Given the description of an element on the screen output the (x, y) to click on. 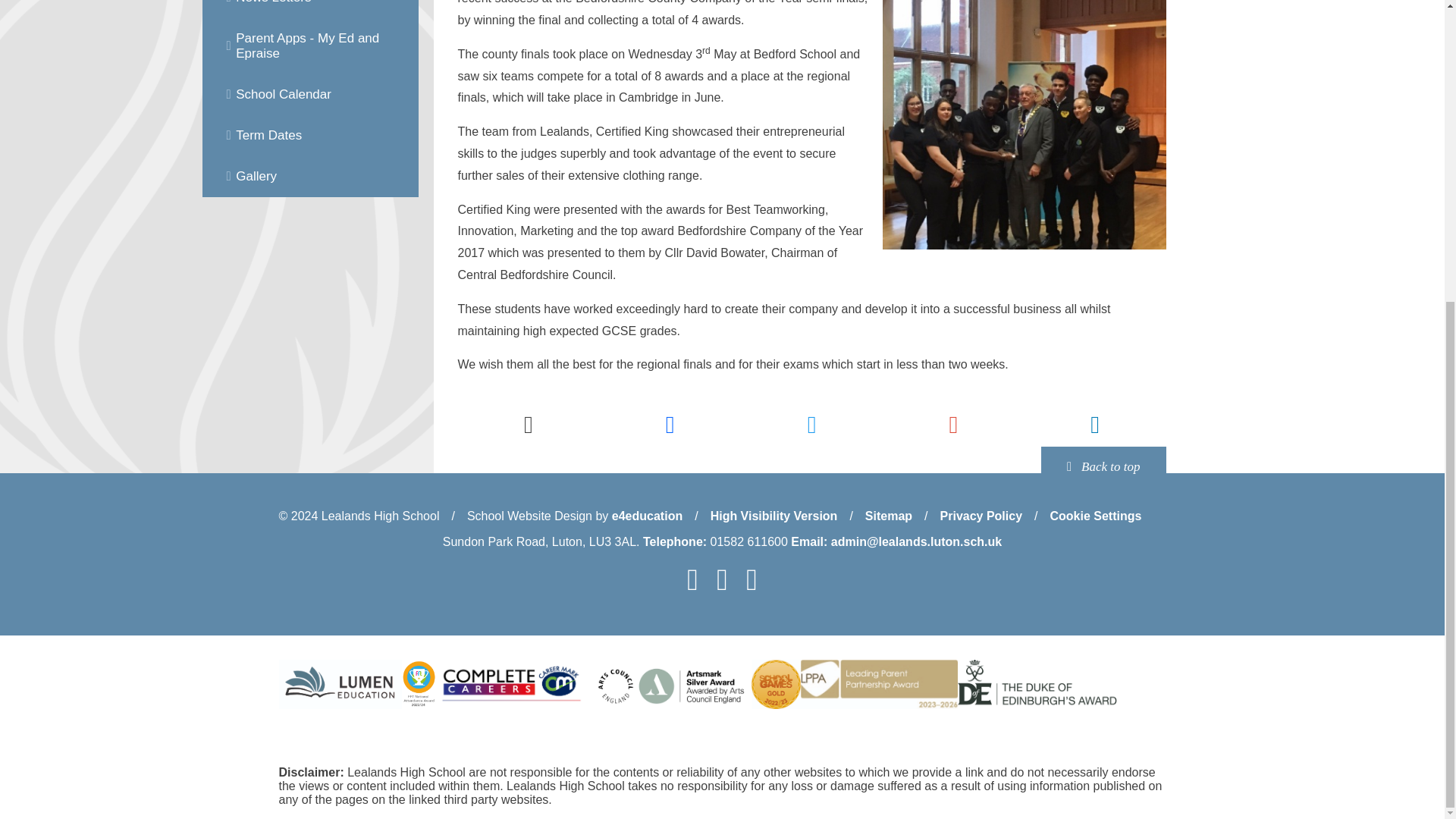
Cookie Settings (1095, 515)
e4education (646, 515)
